Given the description of an element on the screen output the (x, y) to click on. 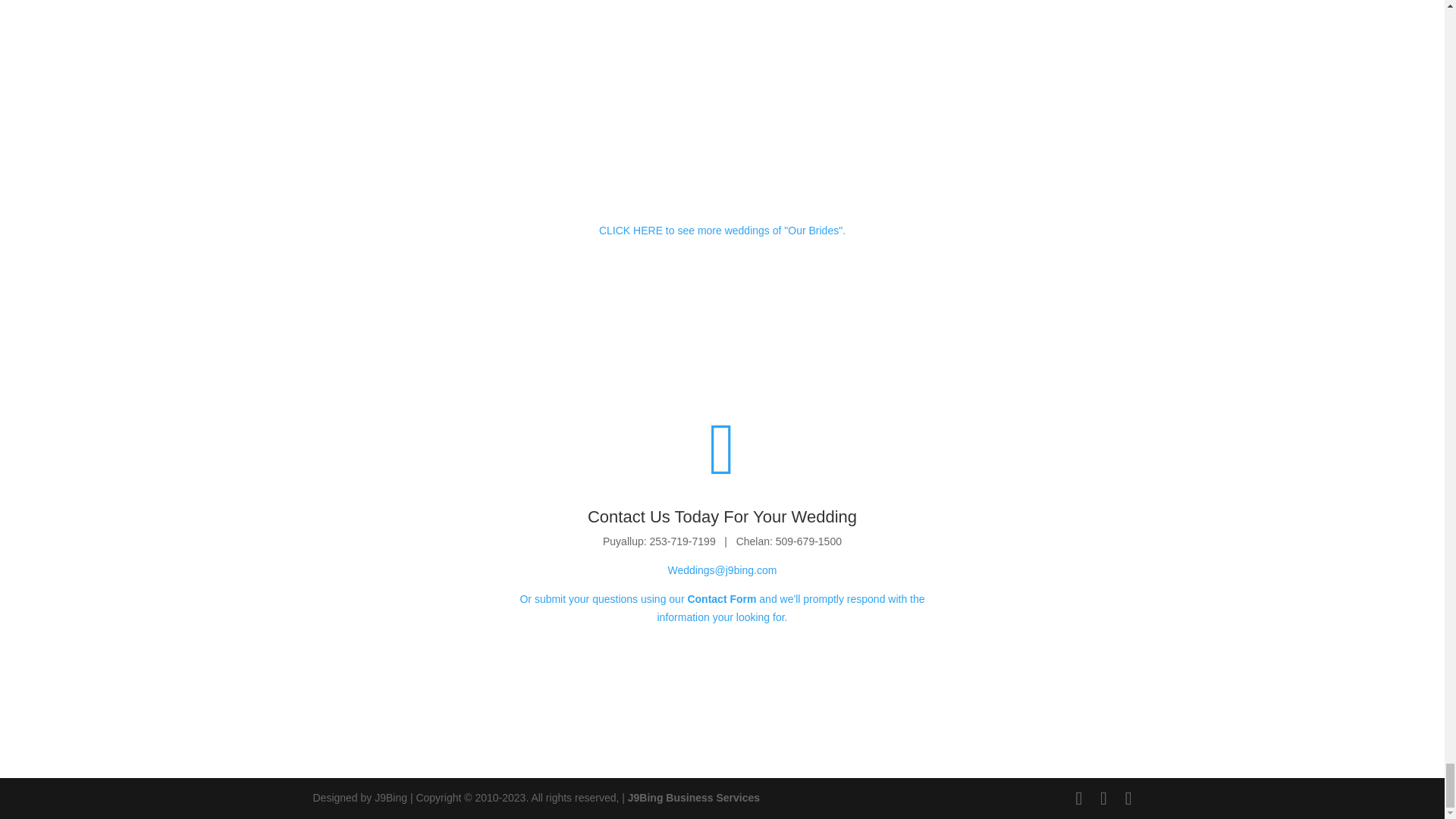
J9Bing Business Services (693, 797)
CLICK HERE to see more weddings of "Our Brides". (721, 230)
